Given the description of an element on the screen output the (x, y) to click on. 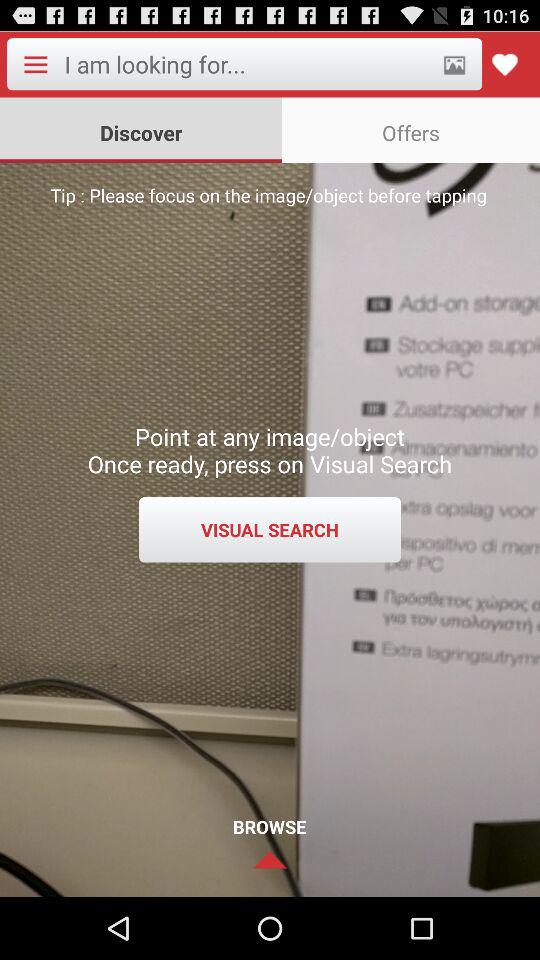
photos (453, 63)
